Given the description of an element on the screen output the (x, y) to click on. 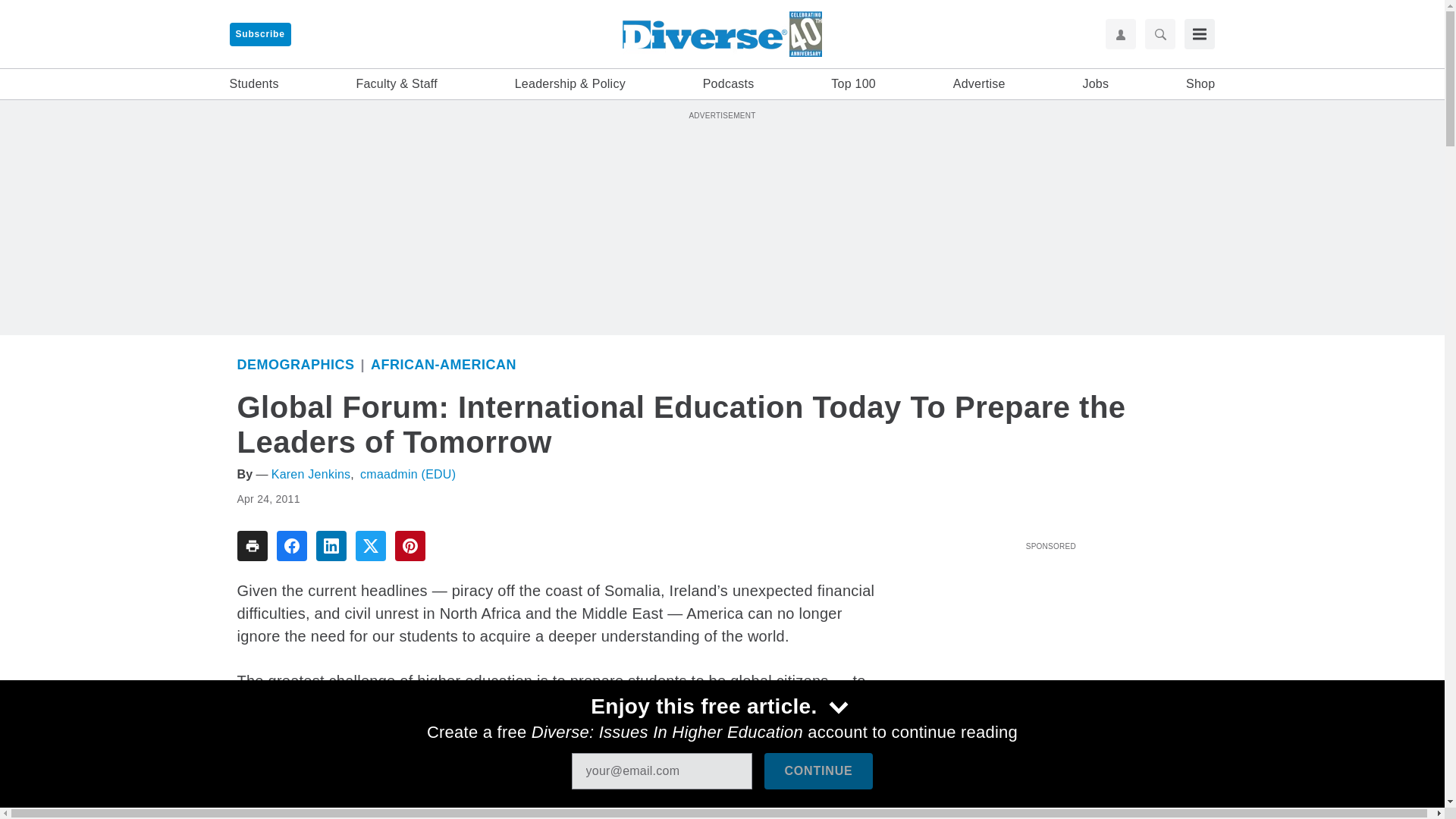
Jobs (1094, 84)
Top 100 (853, 84)
Share To facebook (290, 545)
Share To twitter (370, 545)
Demographics (294, 364)
Shop (1200, 84)
Podcasts (728, 84)
Advertise (979, 84)
Share To pinterest (409, 545)
Share To print (250, 545)
